Given the description of an element on the screen output the (x, y) to click on. 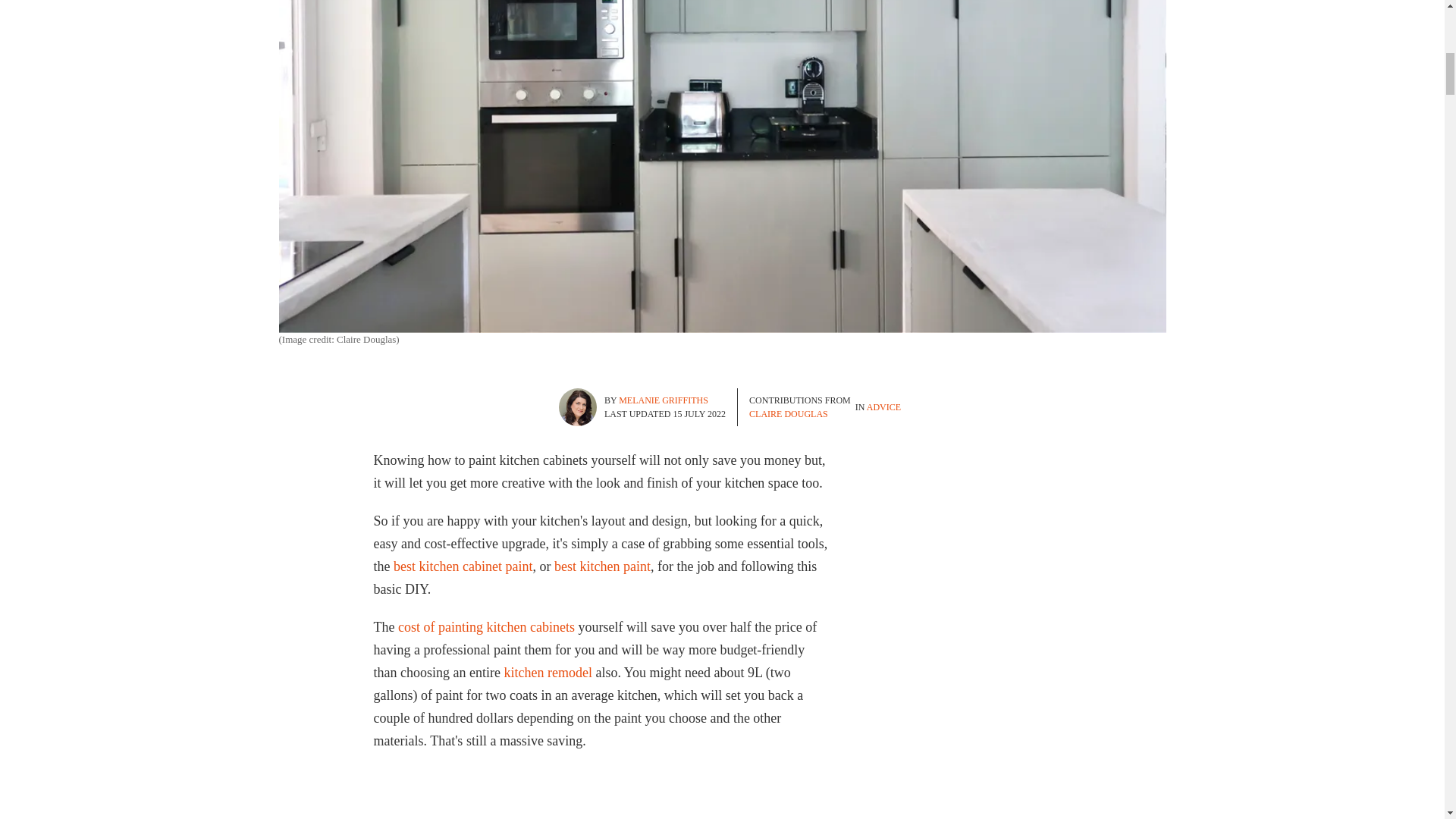
CLAIRE DOUGLAS (788, 413)
Advertisement (1044, 543)
MELANIE GRIFFITHS (662, 399)
